Given the description of an element on the screen output the (x, y) to click on. 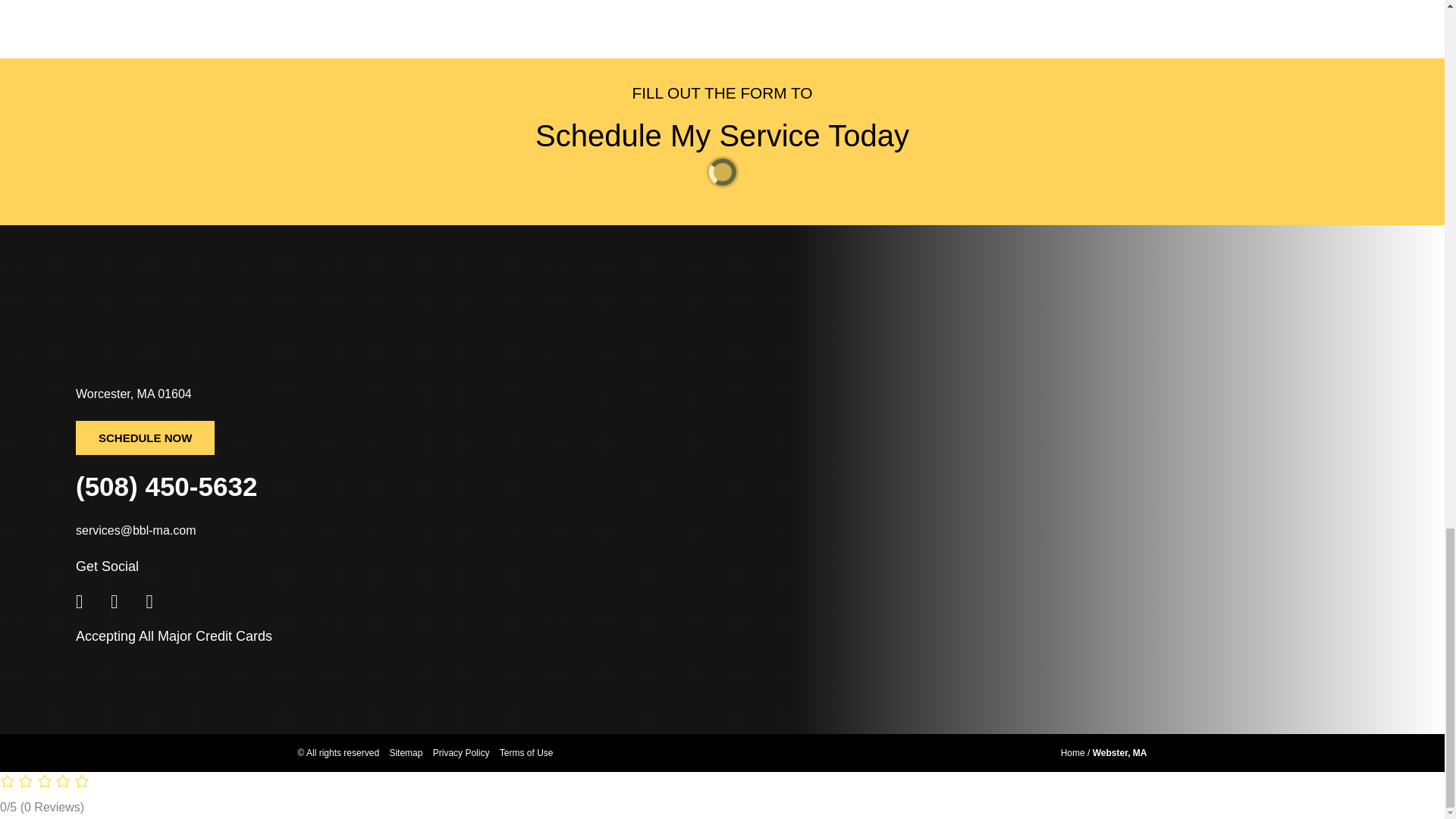
Worcester, MA 01604 (379, 394)
SCHEDULE NOW (144, 437)
Terms of Use (522, 752)
Sitemap (401, 752)
Privacy Policy (457, 752)
